Given the description of an element on the screen output the (x, y) to click on. 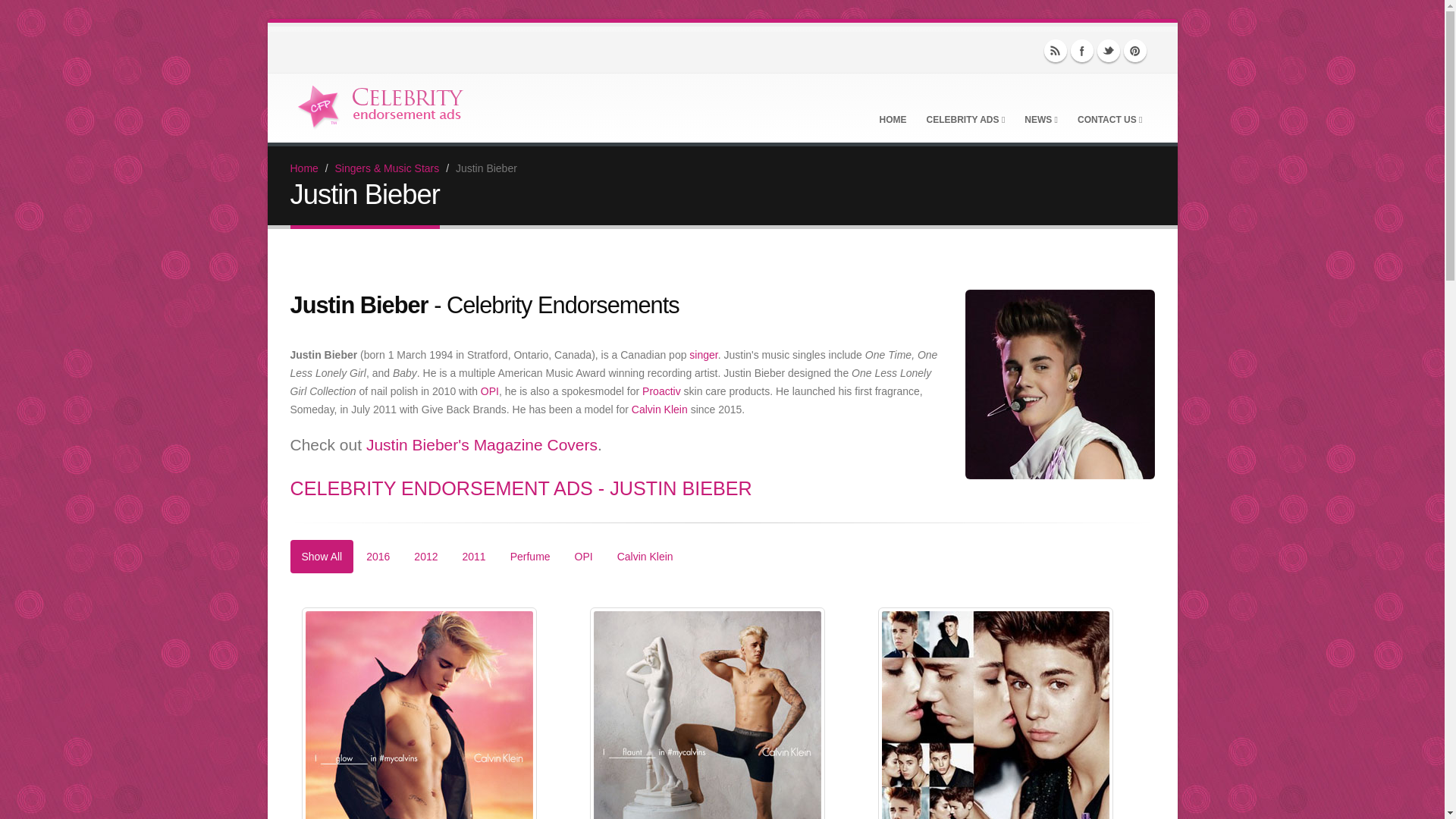
Proactiv (661, 390)
Twitter (1108, 50)
RSS (1055, 50)
Facebook (1081, 50)
Perfume (530, 556)
Facebook (1081, 50)
Pinterest (1135, 50)
Home (303, 168)
Show All (321, 556)
2016 (378, 556)
RSS (1055, 50)
2012 (425, 556)
CELEBRITY ADS (965, 107)
OPI (489, 390)
Pinterest (1135, 50)
